Given the description of an element on the screen output the (x, y) to click on. 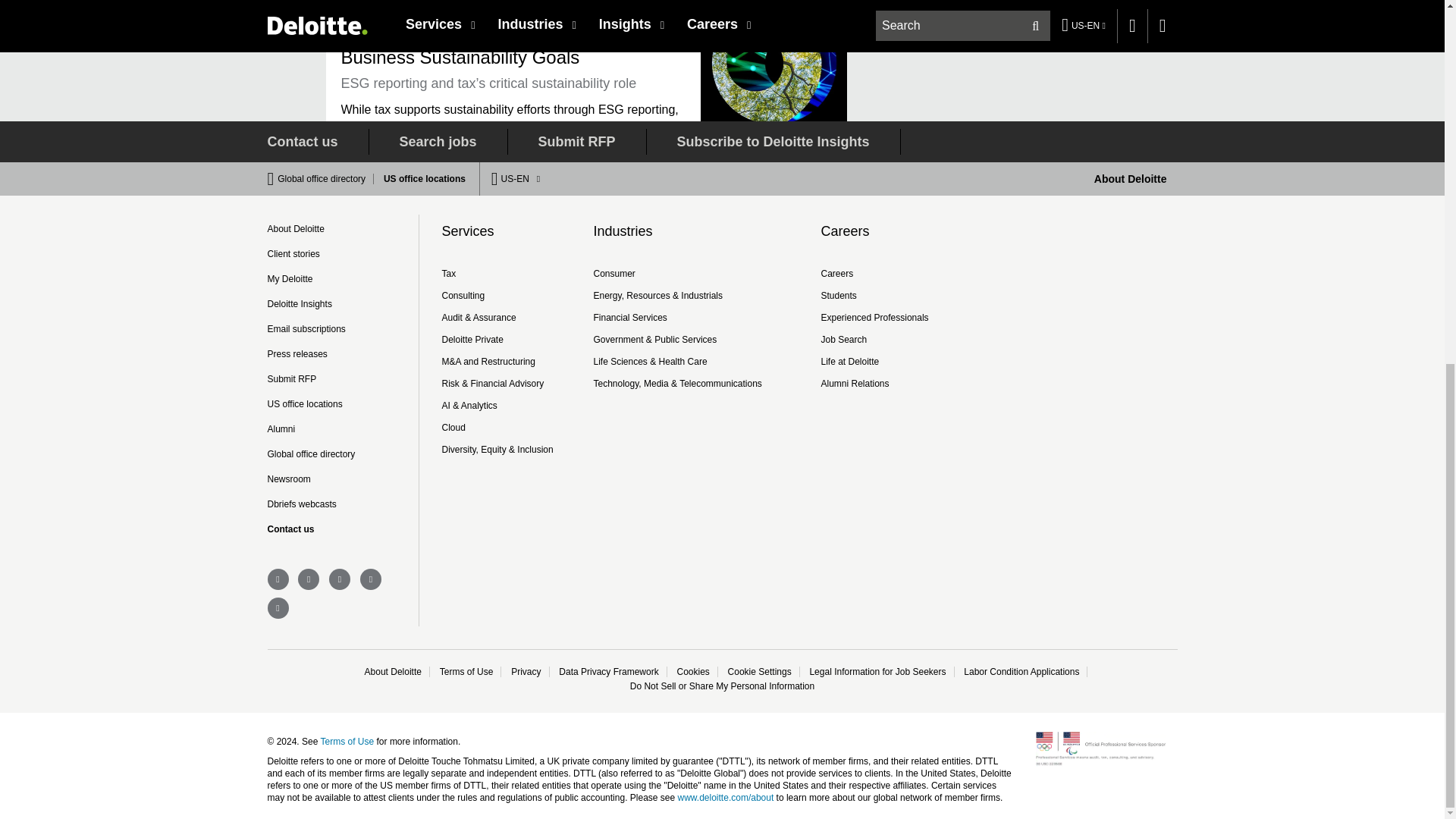
check deloitte us out on glassdoor (370, 578)
view deloitte us on youtube (339, 578)
follow deloitte us on instagram (277, 608)
Global office directory (326, 178)
US office locations (420, 178)
connect with deloitte on linkedin (308, 578)
About Deloitte (1130, 178)
follow deloitte us on twitter (277, 578)
